Given the description of an element on the screen output the (x, y) to click on. 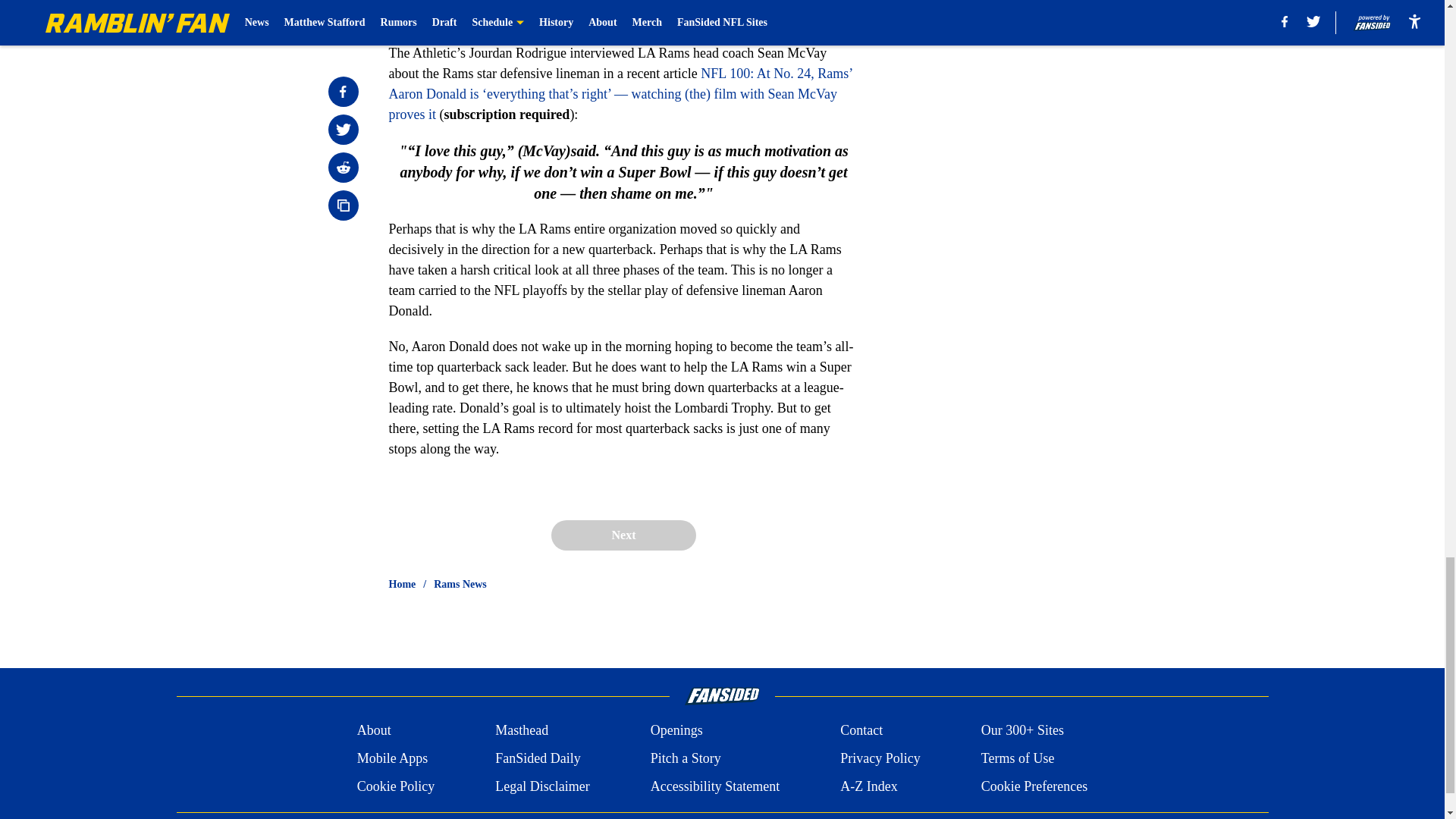
Openings (676, 730)
Privacy Policy (880, 758)
Rams News (459, 584)
About (373, 730)
Contact (861, 730)
FanSided Daily (537, 758)
Home (401, 584)
Pitch a Story (685, 758)
Mobile Apps (392, 758)
Masthead (521, 730)
Next (622, 535)
